Given the description of an element on the screen output the (x, y) to click on. 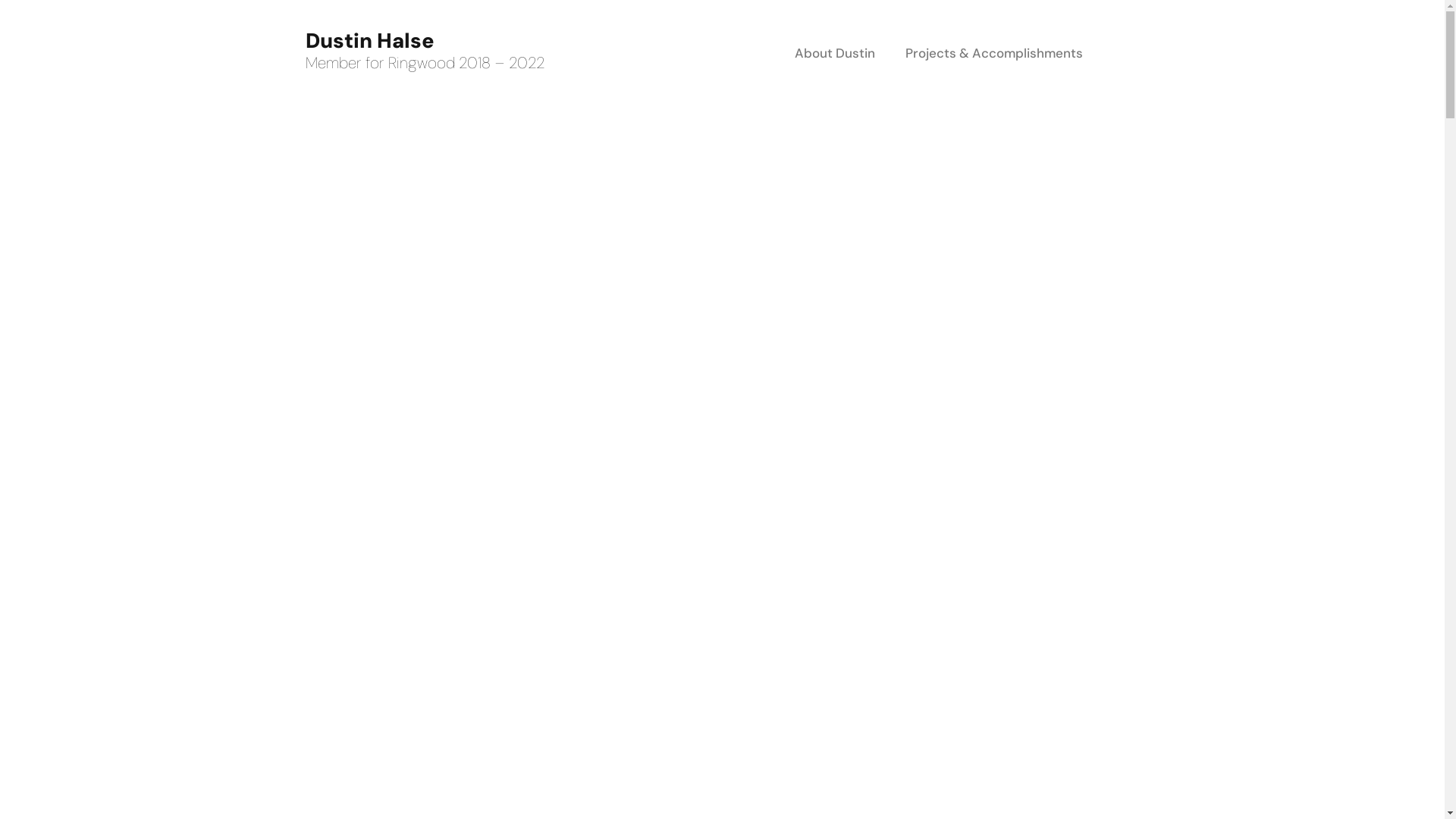
About Dustin Element type: text (834, 52)
Projects & Accomplishments Element type: text (994, 52)
